Given the description of an element on the screen output the (x, y) to click on. 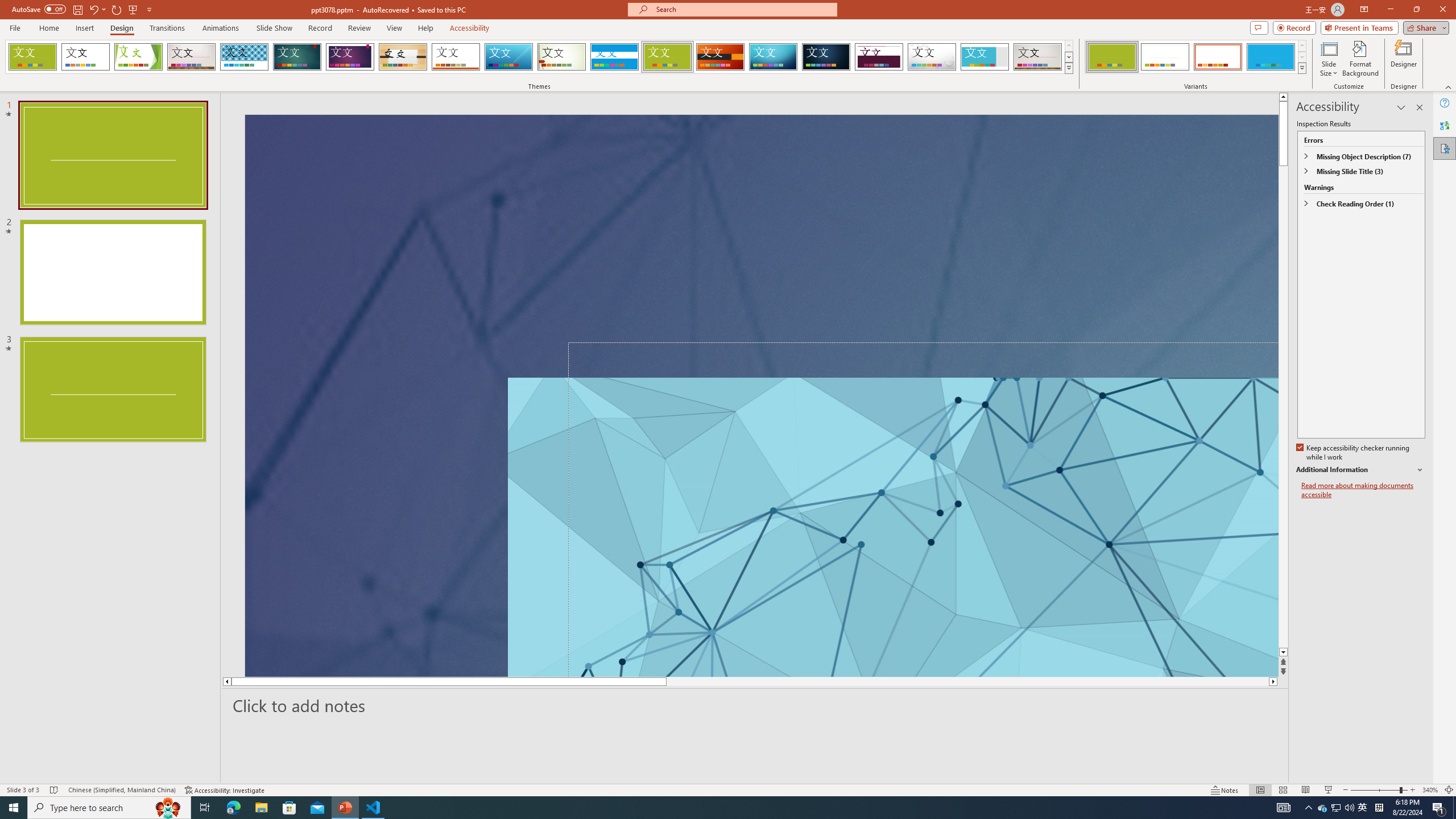
AutomationID: ThemeVariantsGallery (1195, 56)
Retrospect (455, 56)
Basis (667, 56)
Office Theme (85, 56)
Slice (508, 56)
Dividend (879, 56)
Ion (296, 56)
